Given the description of an element on the screen output the (x, y) to click on. 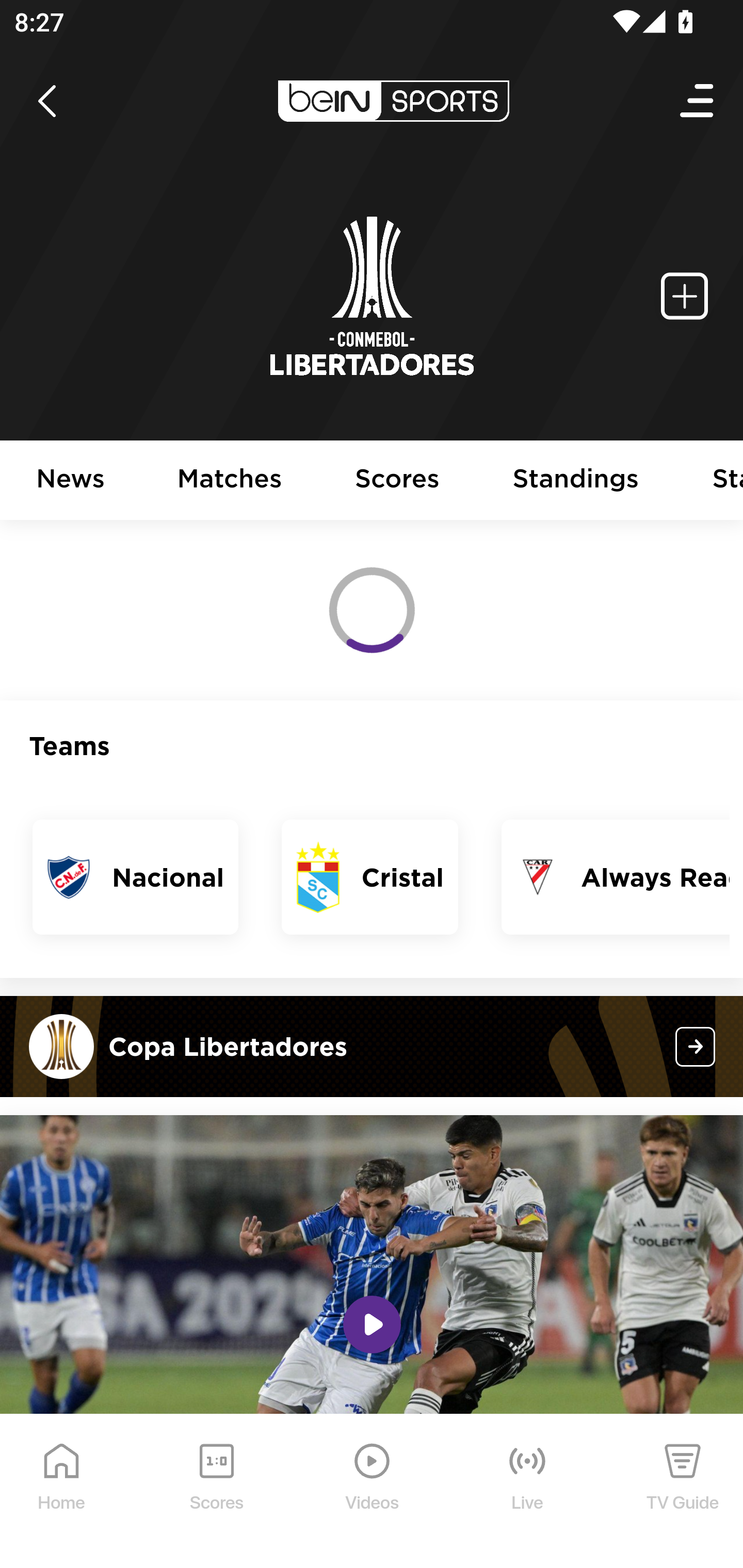
en-us?platform=mobile_android bein logo white (392, 101)
icon back (46, 101)
Open Menu Icon (697, 101)
News (70, 480)
Matches (229, 480)
Scores (397, 480)
Standings (575, 480)
Nacional Nacional Nacional (135, 877)
Cristal Cristal Cristal (370, 877)
Always Ready Always Ready Always Ready (615, 877)
conmebol-libertadores?platform=mobile_android (695, 1045)
Home Home Icon Home (61, 1491)
Scores Scores Icon Scores (216, 1491)
Videos Videos Icon Videos (372, 1491)
TV Guide TV Guide Icon TV Guide (682, 1491)
